Given the description of an element on the screen output the (x, y) to click on. 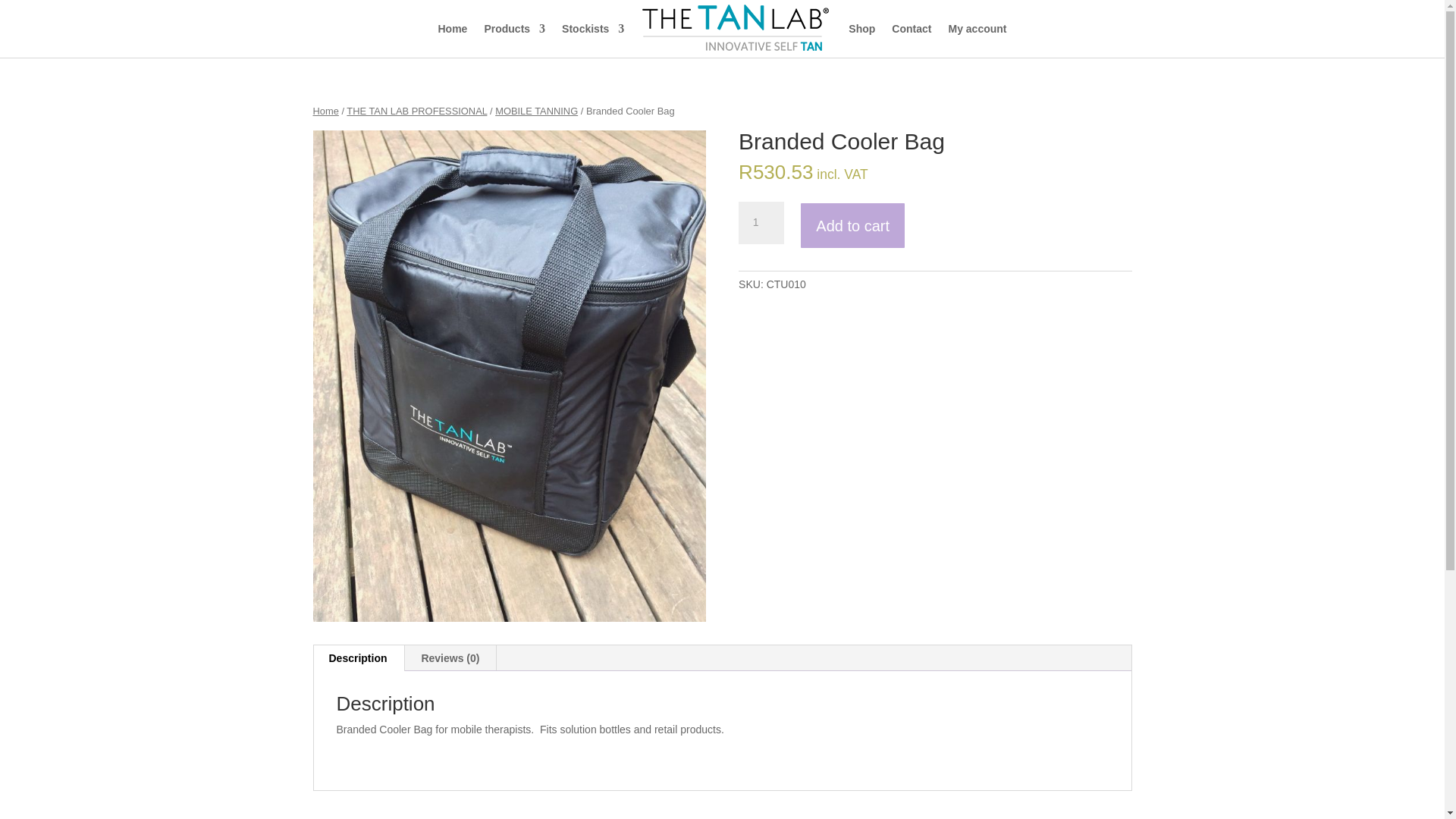
Products (513, 28)
Home (452, 28)
1 (761, 222)
